Given the description of an element on the screen output the (x, y) to click on. 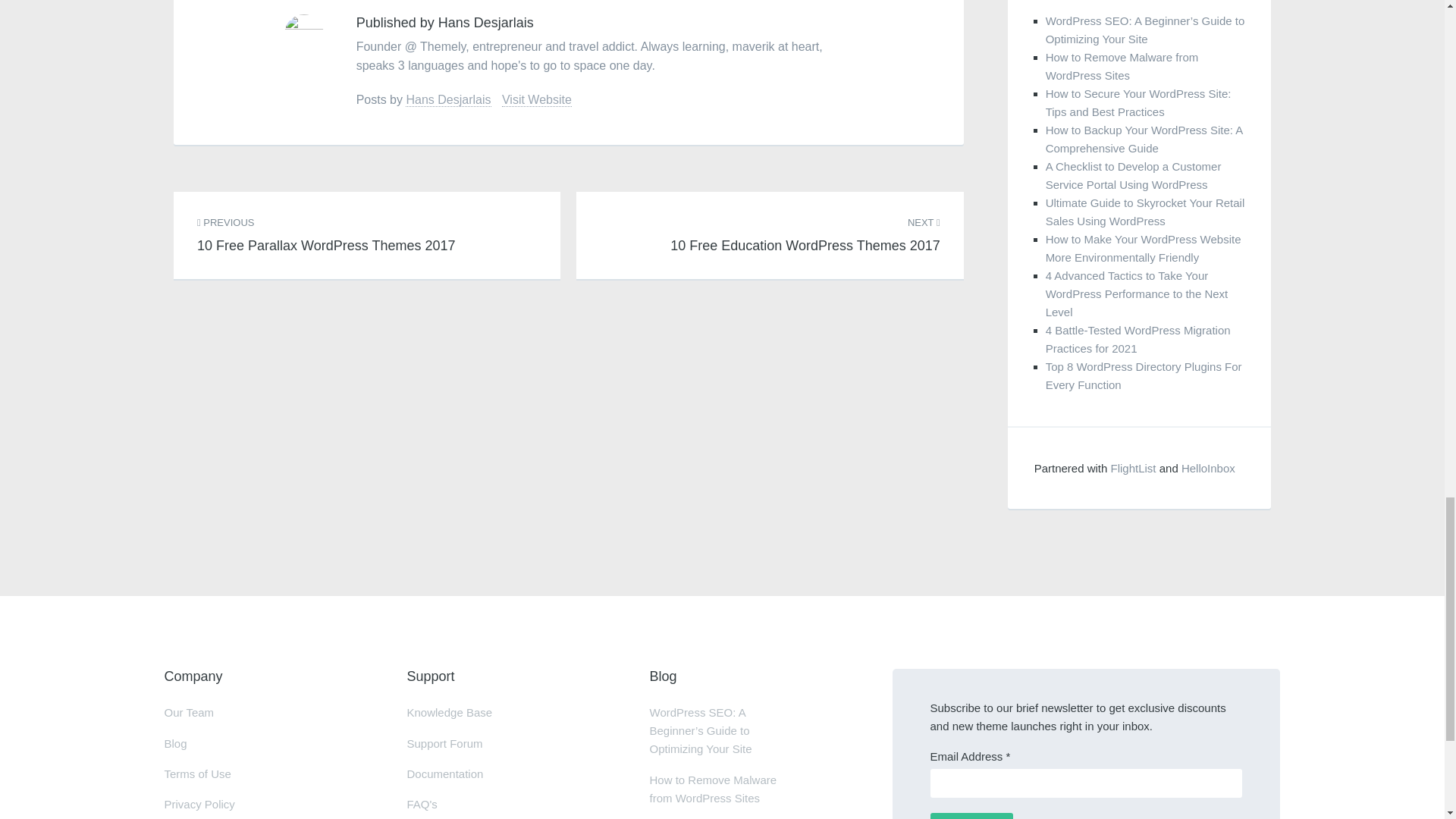
Posts by Hans Desjarlais (448, 100)
Hans Desjarlais (448, 100)
Visit Website (537, 100)
How to Remove Malware from WordPress Sites (804, 225)
How to Secure Your WordPress Site: Tips and Best Practices (1121, 65)
Posts by  Hans Desjarlais (1138, 101)
Subscribe (303, 34)
